Given the description of an element on the screen output the (x, y) to click on. 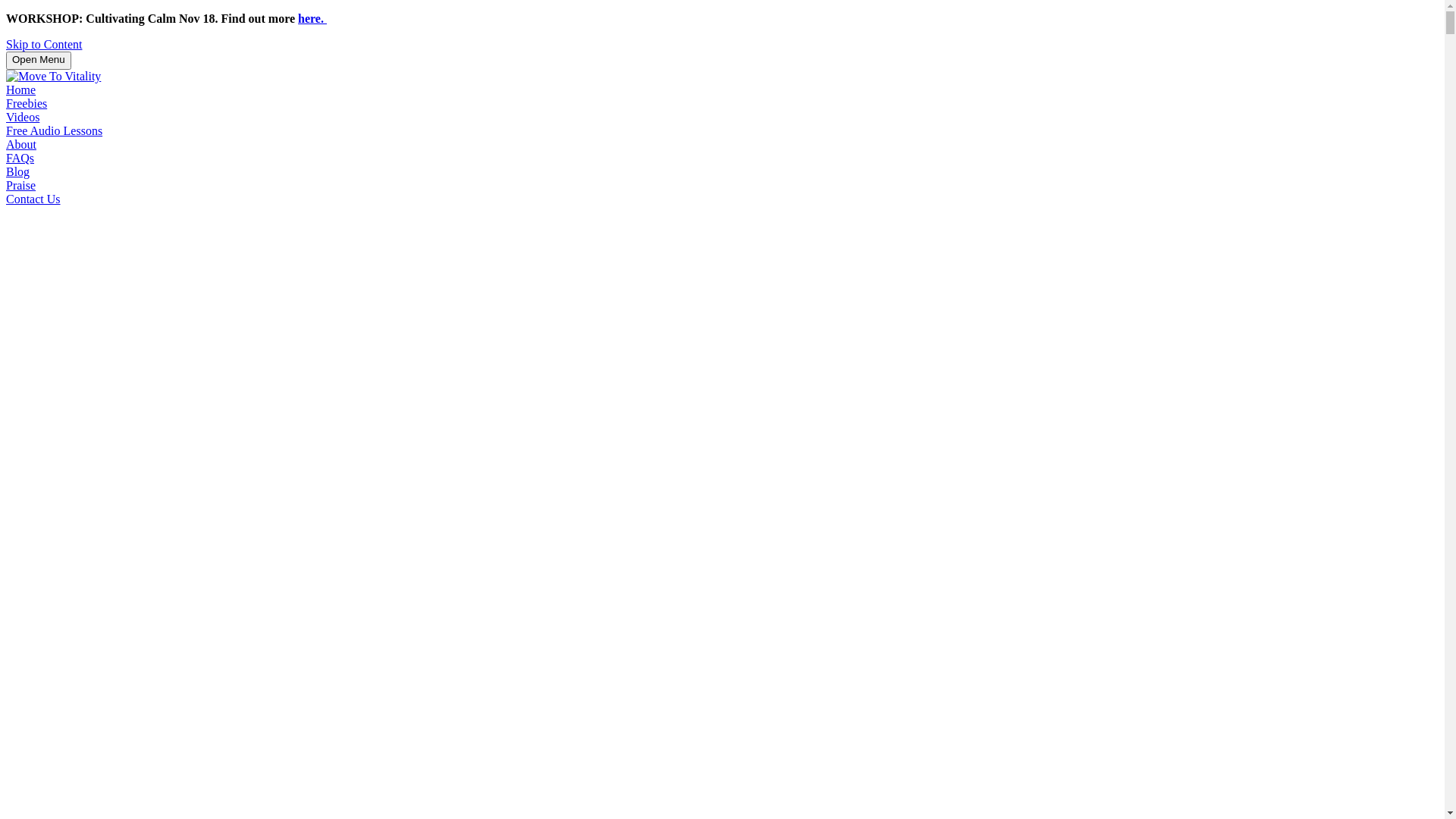
Videos Element type: text (22, 116)
Freebies Element type: text (26, 103)
About Element type: text (21, 144)
Praise Element type: text (20, 184)
Skip to Content Element type: text (43, 43)
Home Element type: text (20, 89)
here.  Element type: text (312, 18)
Blog Element type: text (17, 171)
Contact Us Element type: text (33, 198)
Free Audio Lessons Element type: text (54, 130)
Open Menu Element type: text (38, 60)
FAQs Element type: text (20, 157)
